Given the description of an element on the screen output the (x, y) to click on. 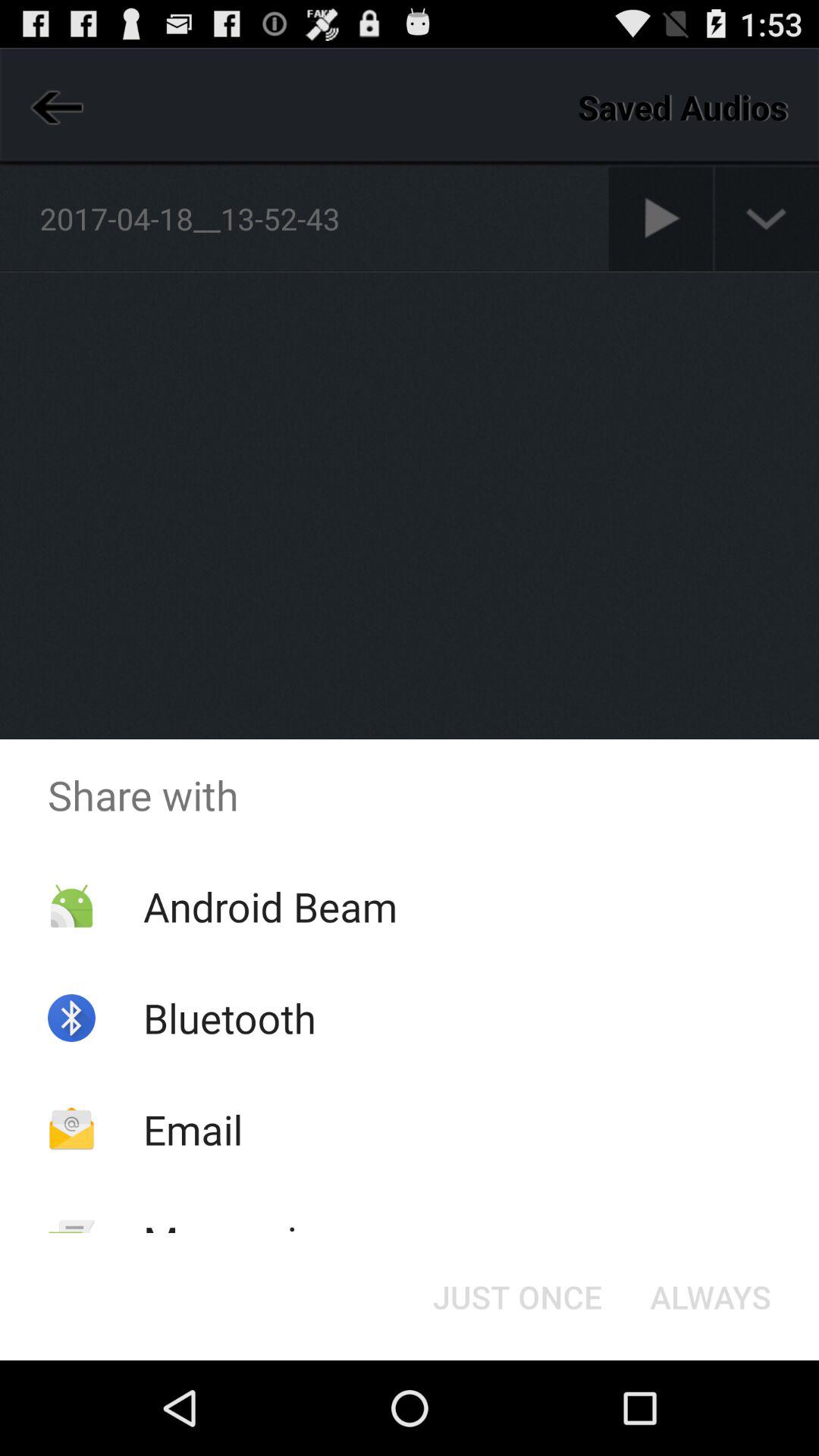
launch item next to just once icon (710, 1296)
